Given the description of an element on the screen output the (x, y) to click on. 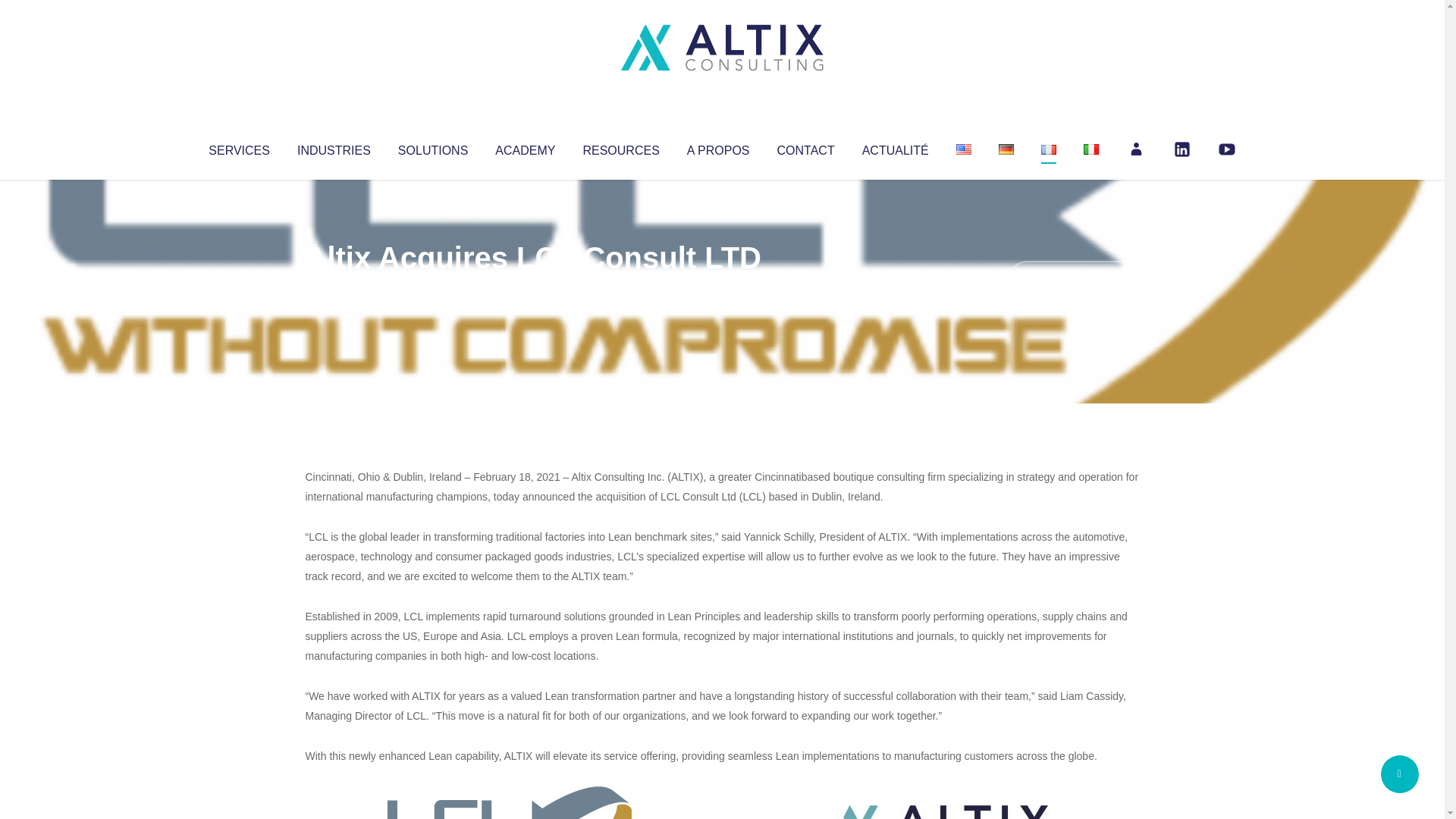
No Comments (1073, 278)
SERVICES (238, 146)
INDUSTRIES (334, 146)
Altix (333, 287)
RESOURCES (620, 146)
SOLUTIONS (432, 146)
A PROPOS (718, 146)
ACADEMY (524, 146)
Uncategorized (530, 287)
Articles par Altix (333, 287)
